Given the description of an element on the screen output the (x, y) to click on. 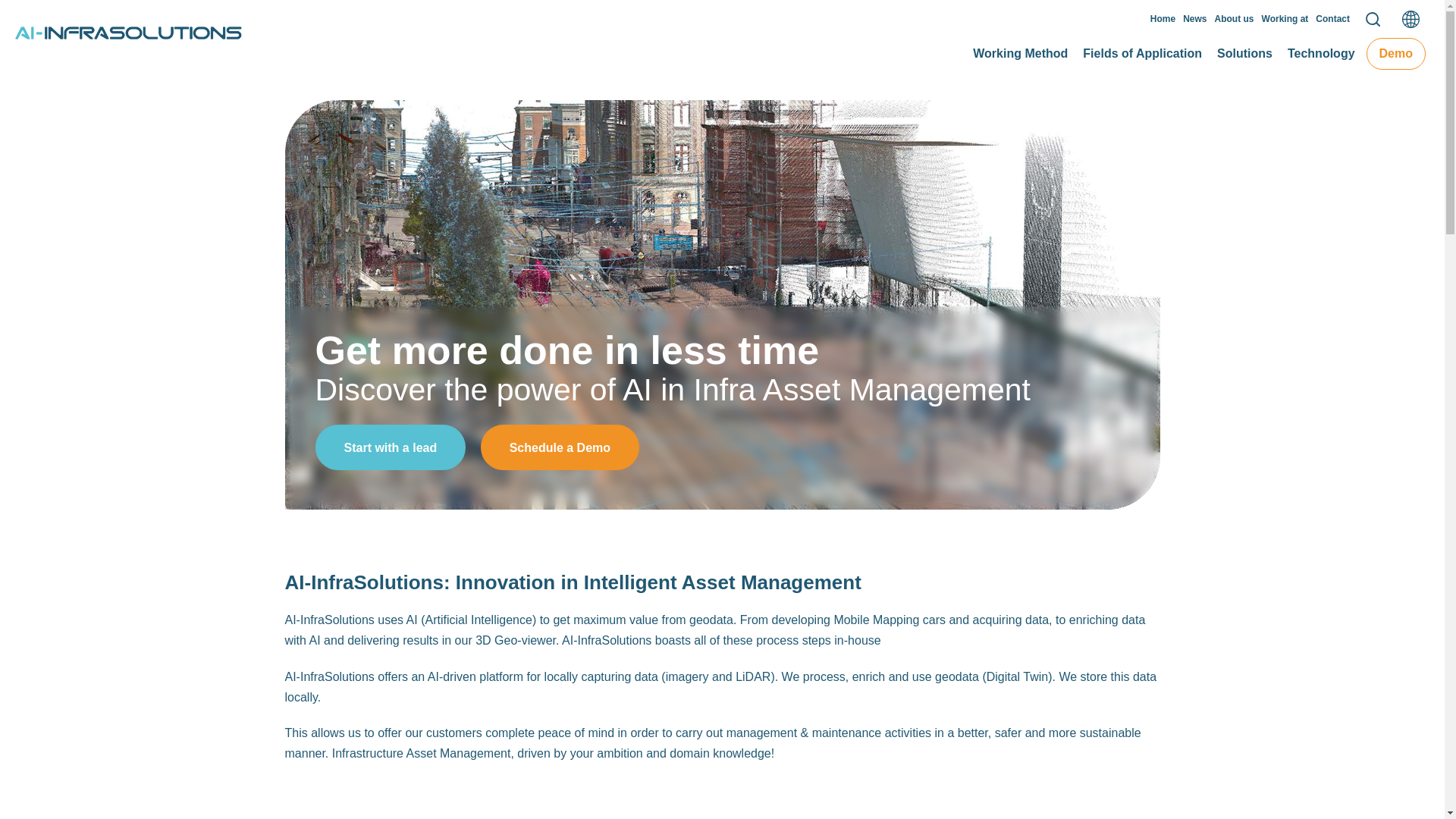
Working Method (1020, 53)
Home (1163, 18)
Choose your language (1410, 18)
Contact (1332, 18)
AI-InfraSolutions (127, 34)
Contact (1332, 18)
Search (1372, 18)
About us (1234, 18)
Home (1163, 18)
Working at (1285, 18)
Working Method (1020, 53)
News (1194, 18)
Fields of Application (1141, 53)
Working at (1285, 18)
News (1194, 18)
